Given the description of an element on the screen output the (x, y) to click on. 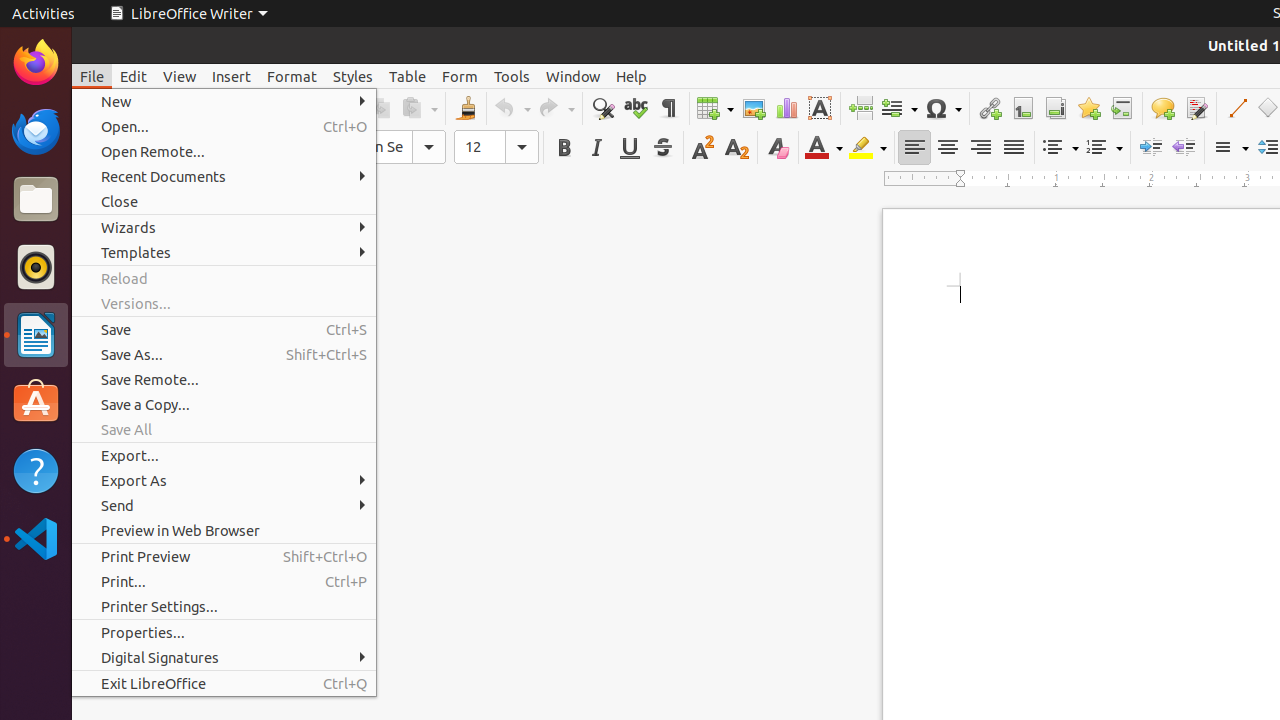
Properties... Element type: menu-item (224, 632)
Bullets Element type: push-button (1060, 147)
Image Element type: push-button (753, 108)
Symbol Element type: push-button (943, 108)
Undo Element type: push-button (512, 108)
